Given the description of an element on the screen output the (x, y) to click on. 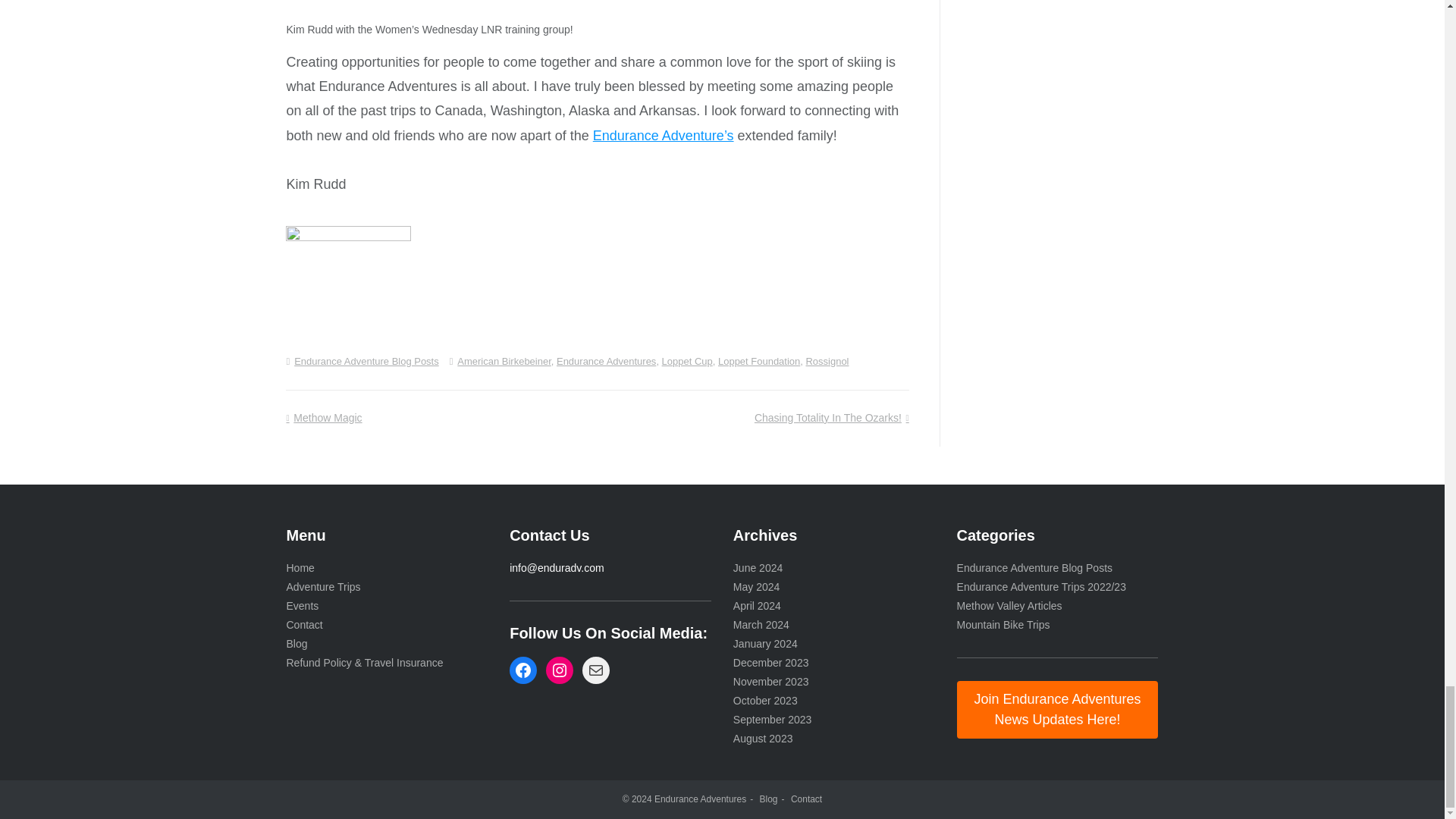
Endurance Adventure Blog Posts (366, 360)
American Birkebeiner (503, 360)
Loppet Cup (687, 360)
Loppet Foundation (758, 360)
Endurance Adventures (606, 360)
Methow Magic (323, 417)
Chasing Totality In The Ozarks! (831, 417)
Rossignol (826, 360)
